Given the description of an element on the screen output the (x, y) to click on. 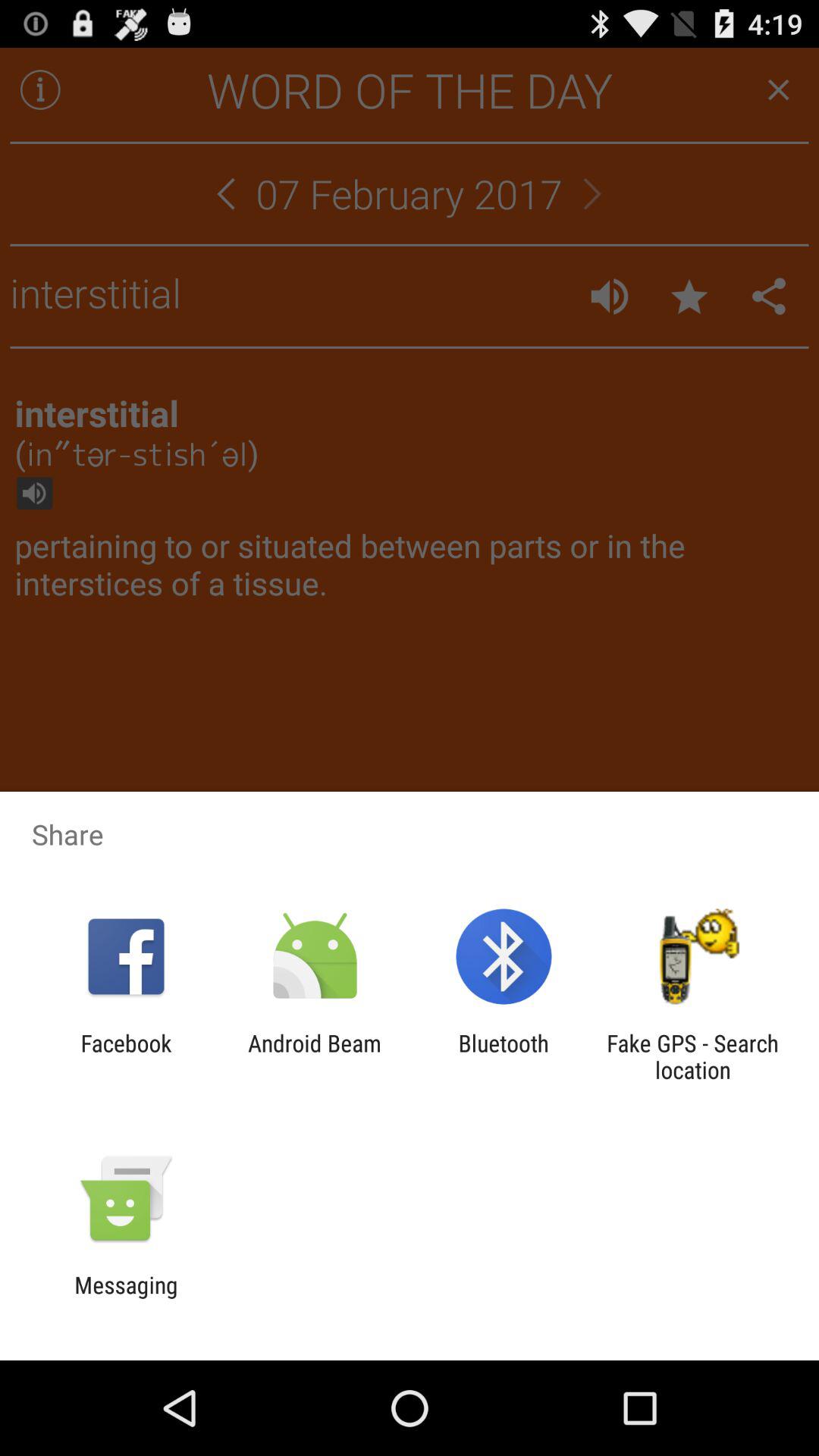
jump until facebook item (125, 1056)
